Given the description of an element on the screen output the (x, y) to click on. 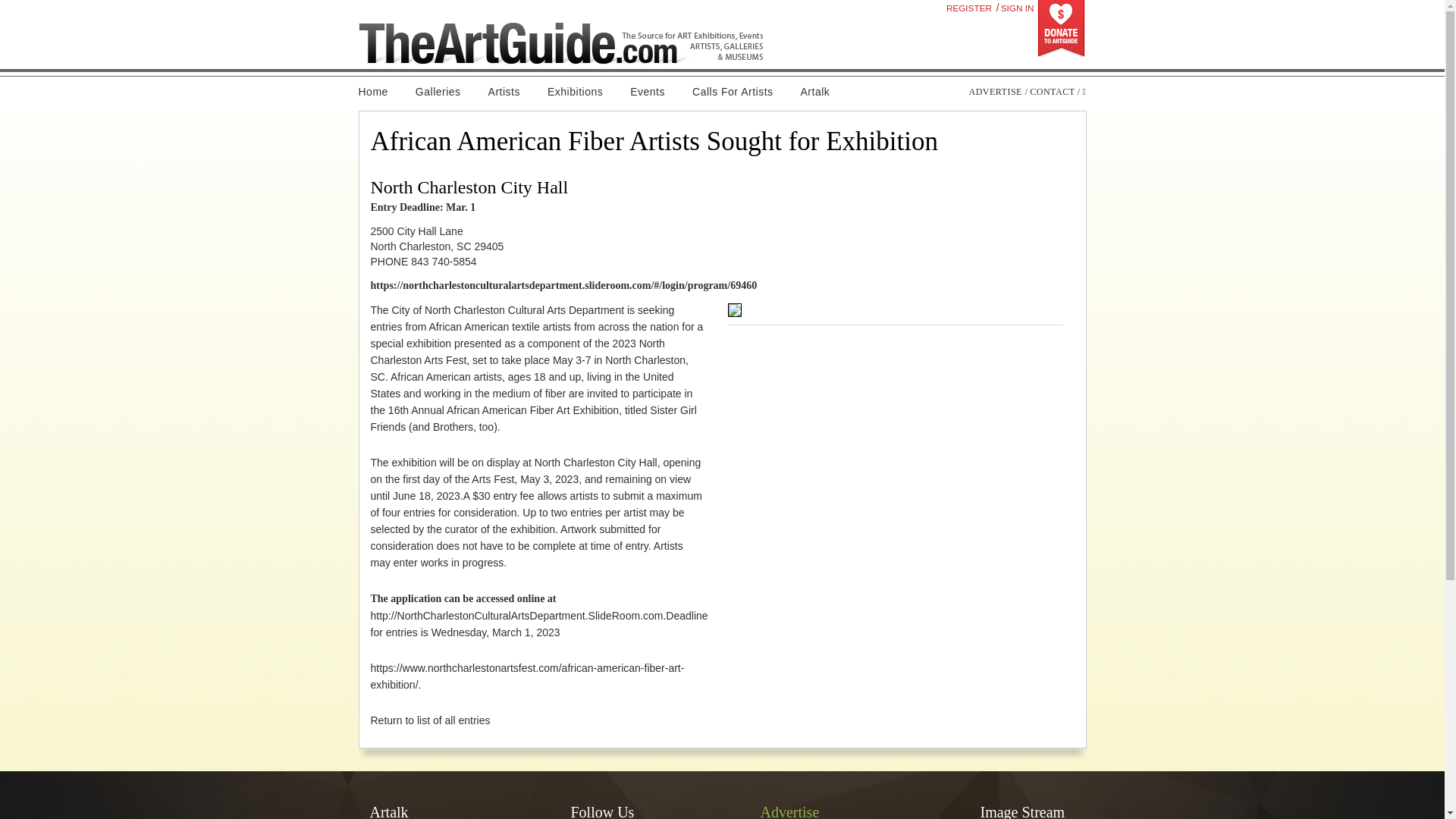
Calls For Artists (732, 91)
Artalk (815, 91)
Events (646, 91)
Exhibitions (574, 91)
Artists (504, 91)
Return to list of all entries (429, 720)
Galleries (437, 91)
REGISTER (968, 8)
SIGN IN (1016, 8)
Home (379, 91)
